Given the description of an element on the screen output the (x, y) to click on. 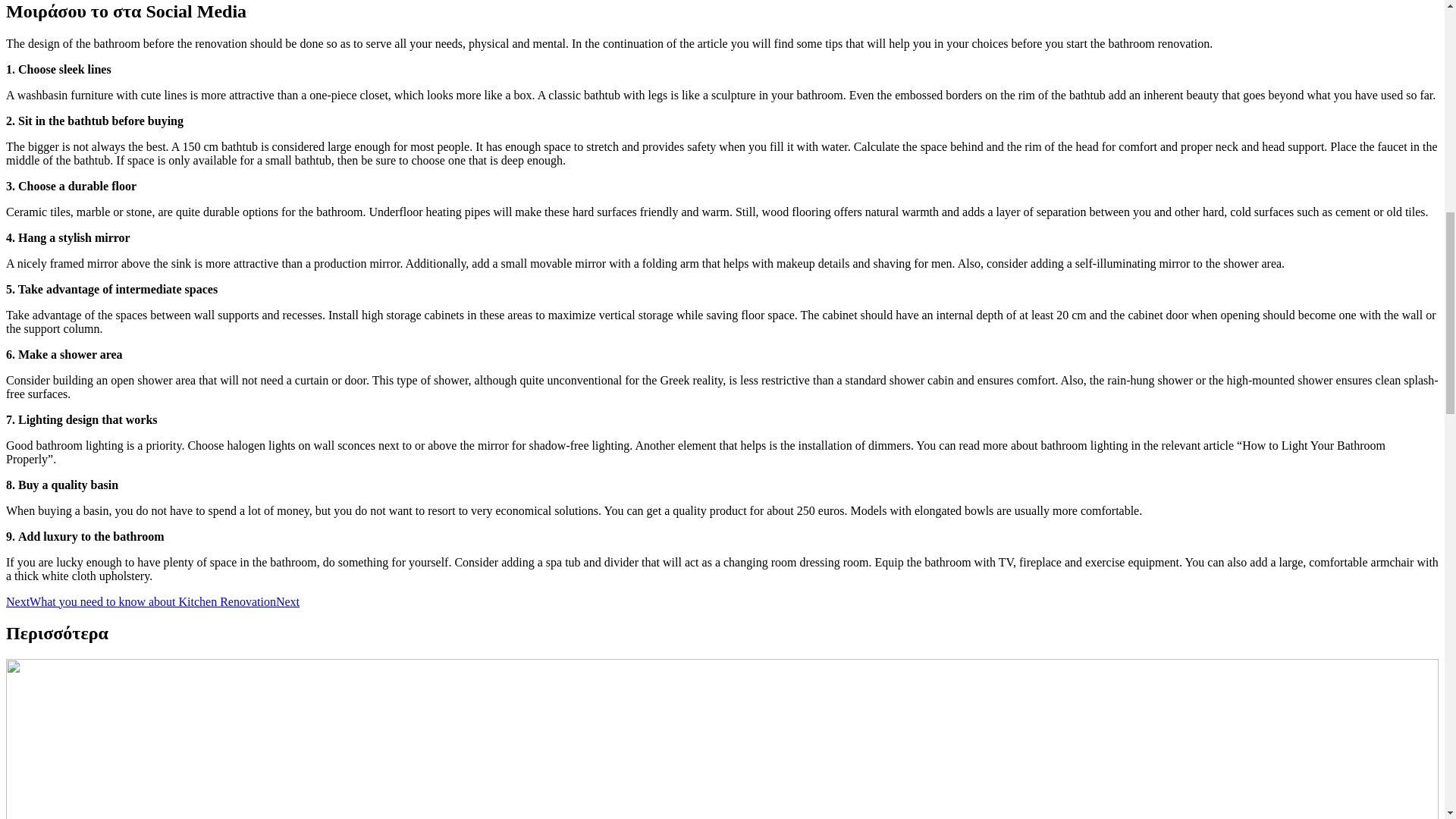
NextWhat you need to know about Kitchen RenovationNext (152, 601)
